Given the description of an element on the screen output the (x, y) to click on. 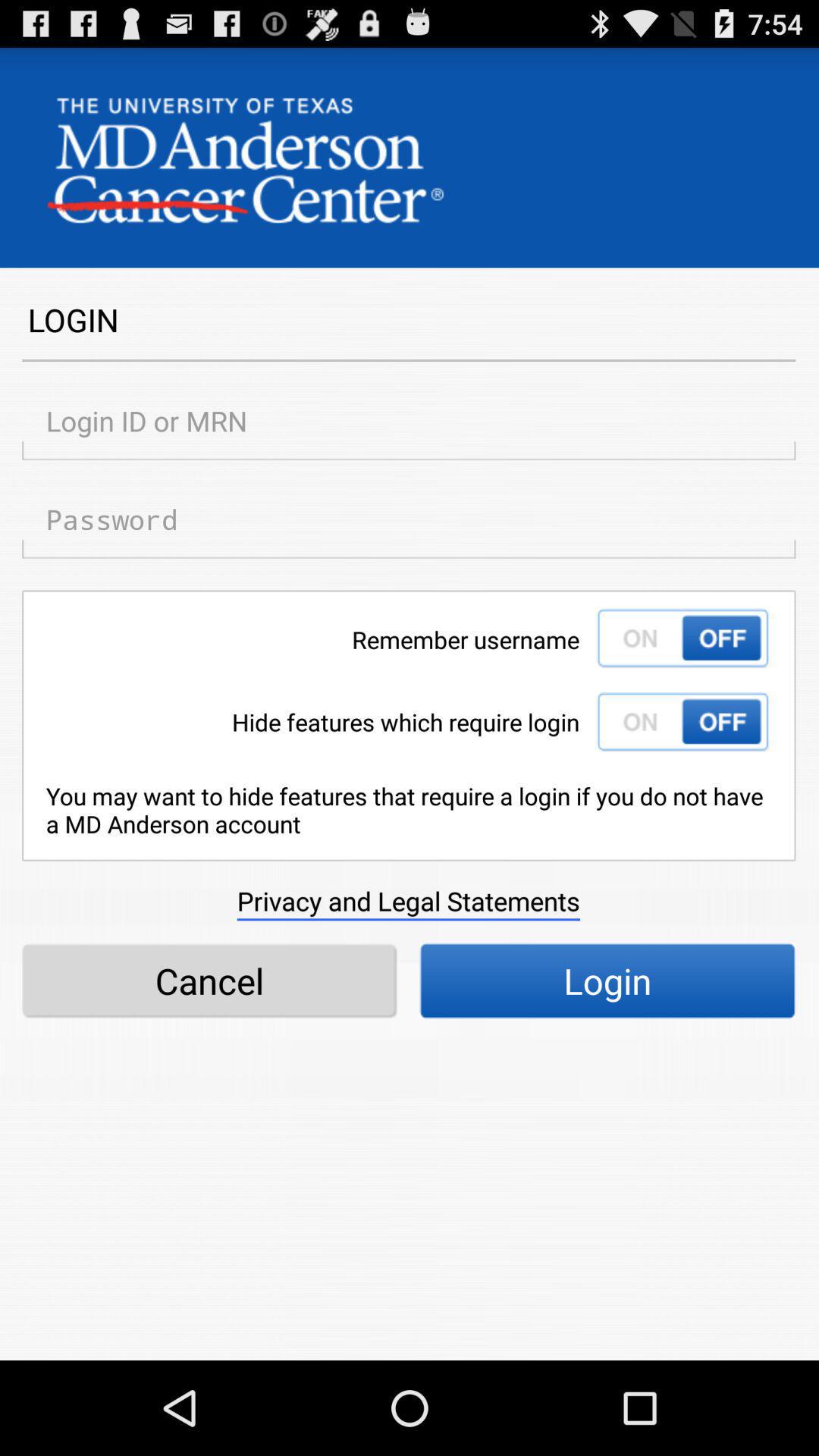
jump until the privacy and legal icon (408, 900)
